Given the description of an element on the screen output the (x, y) to click on. 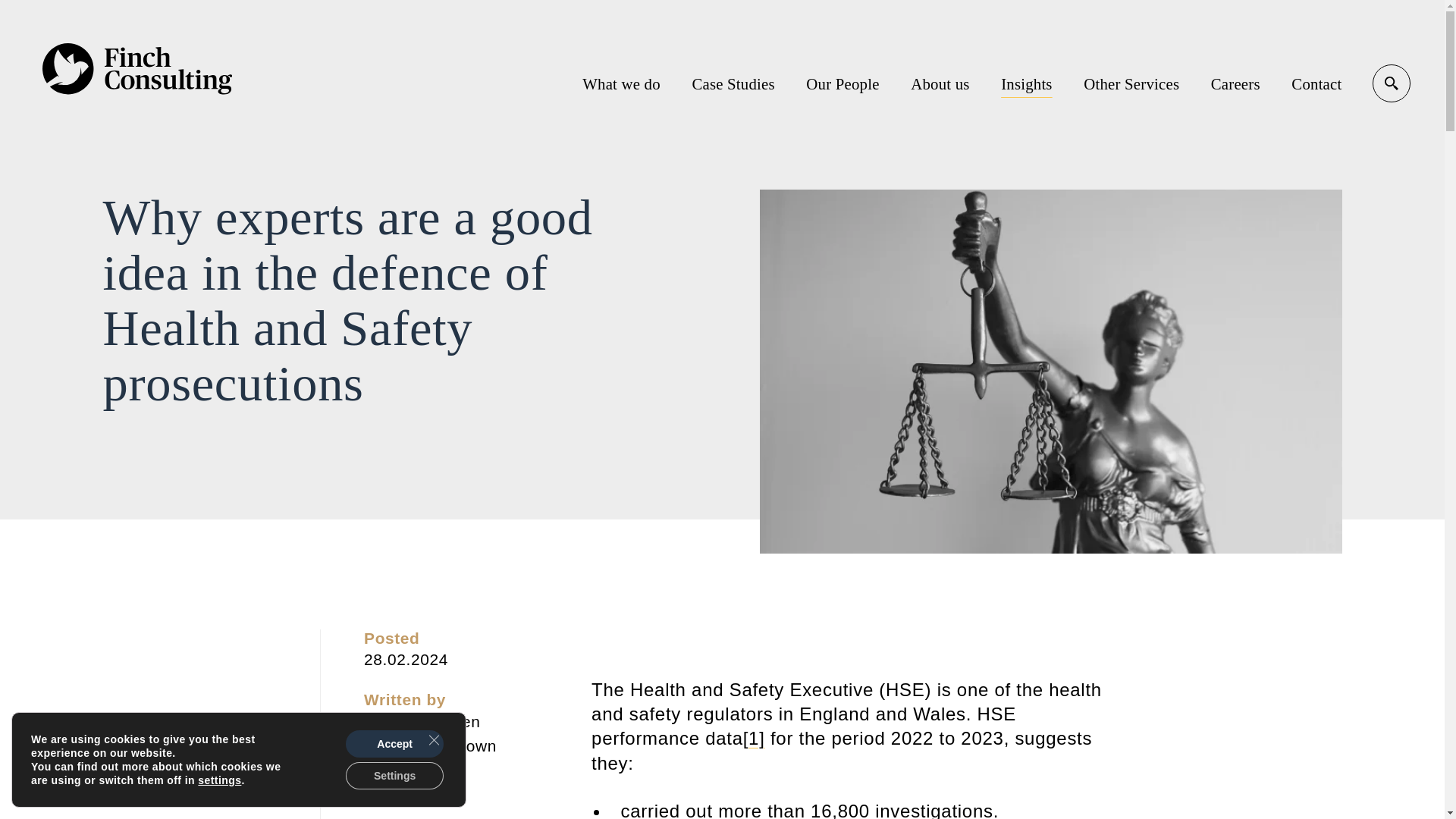
Search (1391, 83)
Case Studies (732, 83)
Other Services (1131, 83)
About us (940, 83)
Insights (1026, 83)
Careers (1235, 83)
What we do (621, 83)
Contact (1315, 83)
Our People (842, 83)
